Given the description of an element on the screen output the (x, y) to click on. 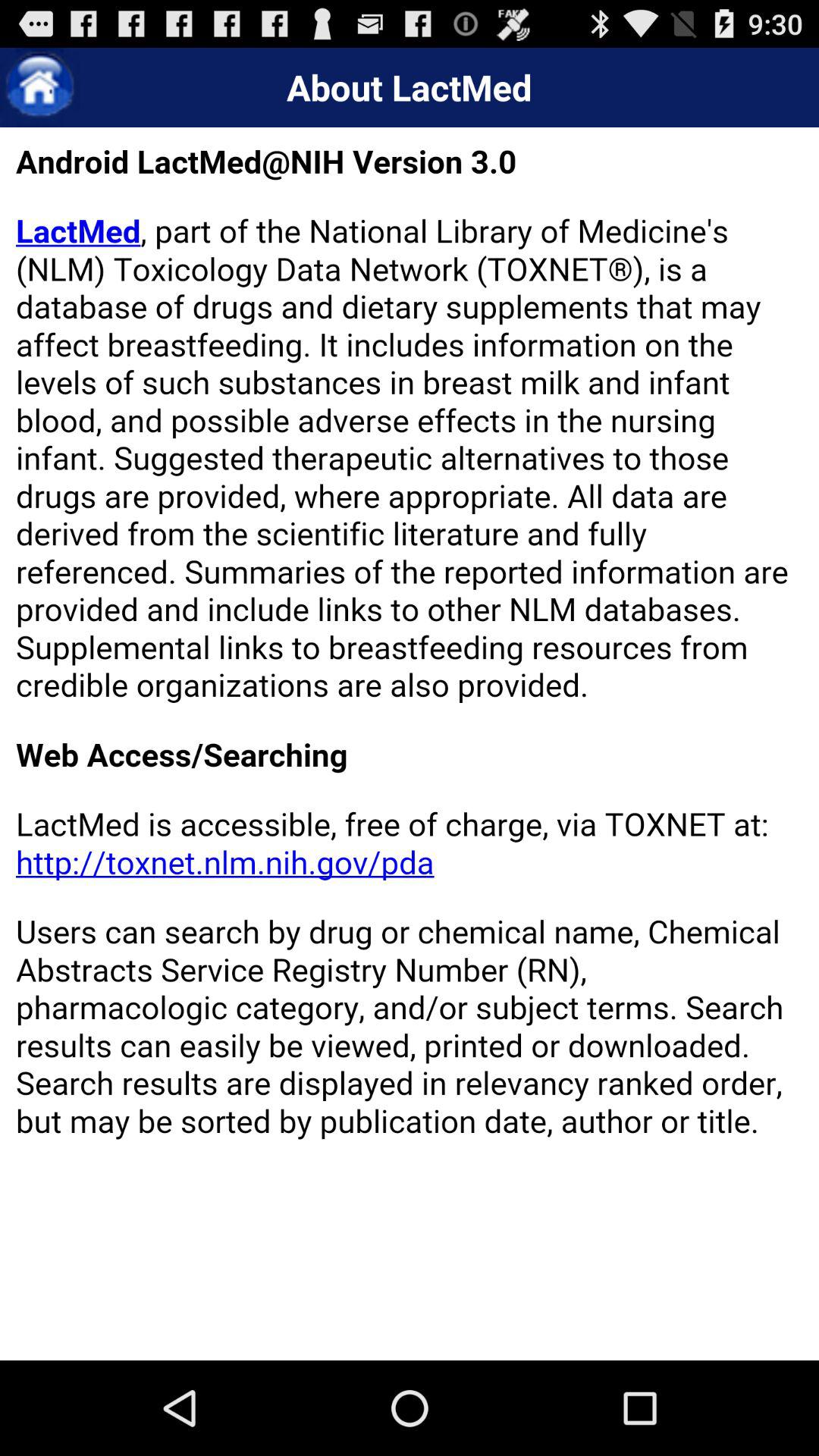
home button (39, 87)
